Given the description of an element on the screen output the (x, y) to click on. 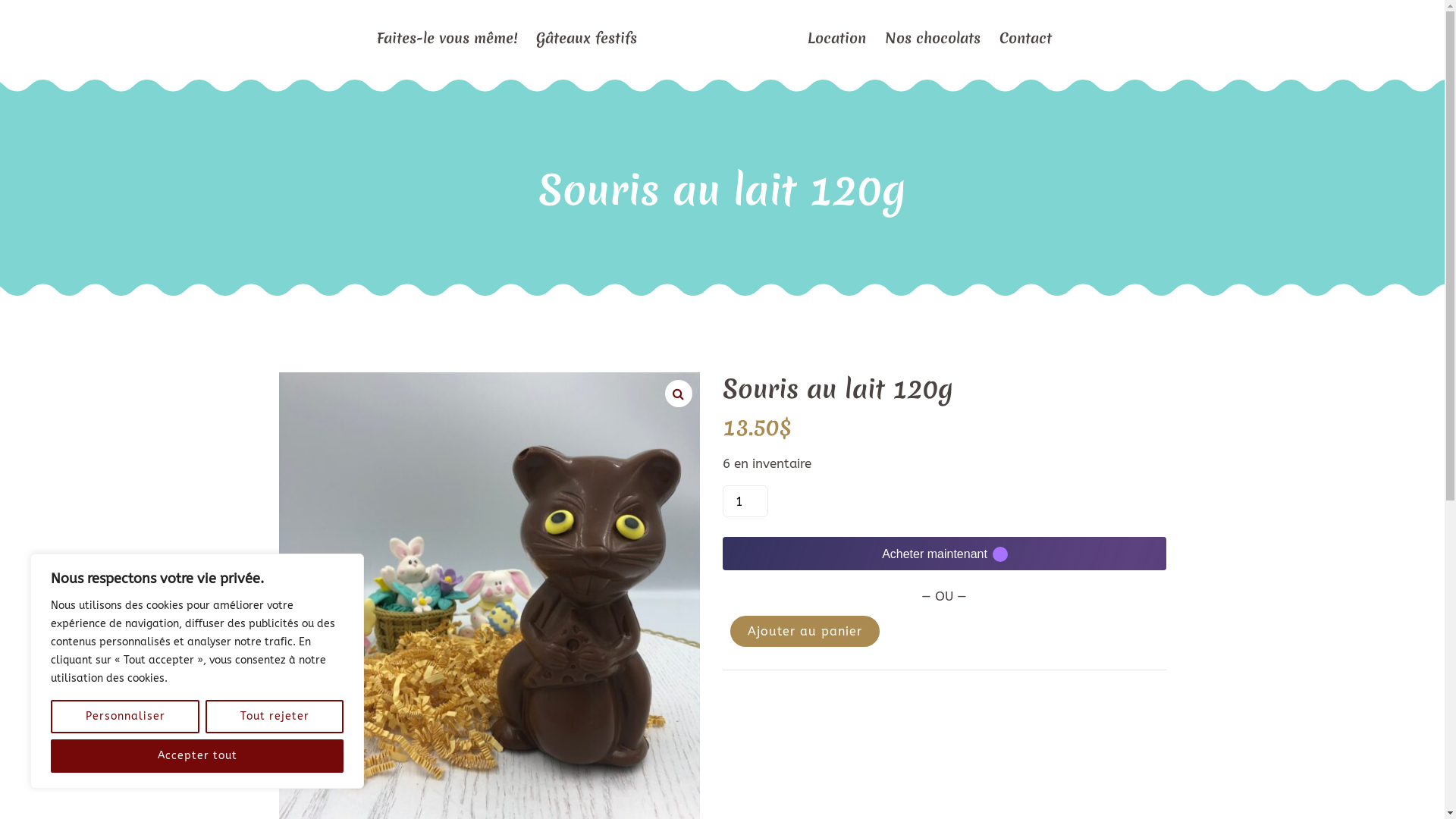
Location Element type: text (836, 37)
Nos chocolats Element type: text (932, 37)
Personnaliser Element type: text (124, 716)
Contact Element type: text (1025, 37)
Ajouter au panier Element type: text (803, 630)
Accepter tout Element type: text (196, 755)
Tout rejeter Element type: text (274, 716)
